Given the description of an element on the screen output the (x, y) to click on. 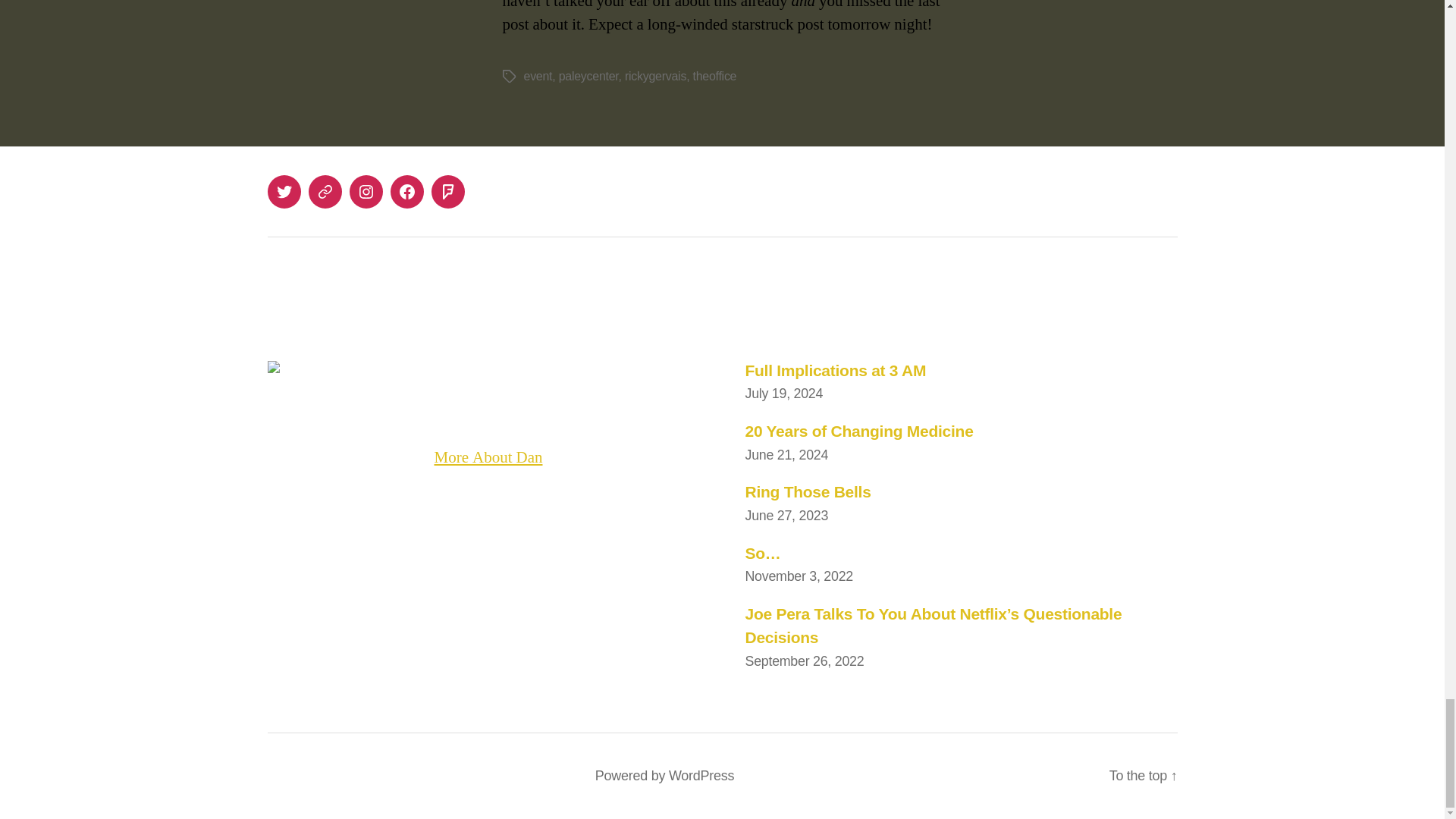
My personal Twitter account. Private. (282, 191)
My Instagram account. Private. (365, 191)
My Foursquare account. Lots of lists. (447, 191)
